Given the description of an element on the screen output the (x, y) to click on. 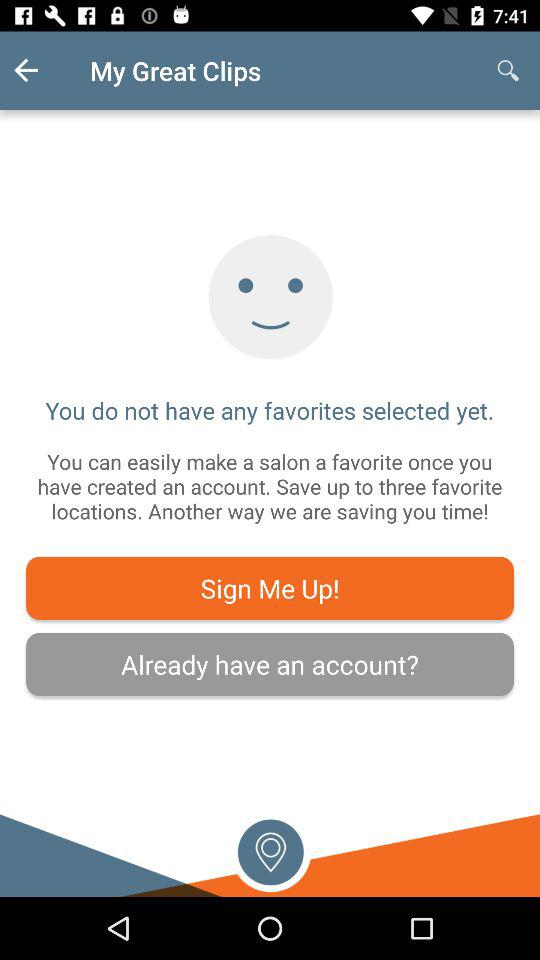
select sign me up! (269, 587)
